Given the description of an element on the screen output the (x, y) to click on. 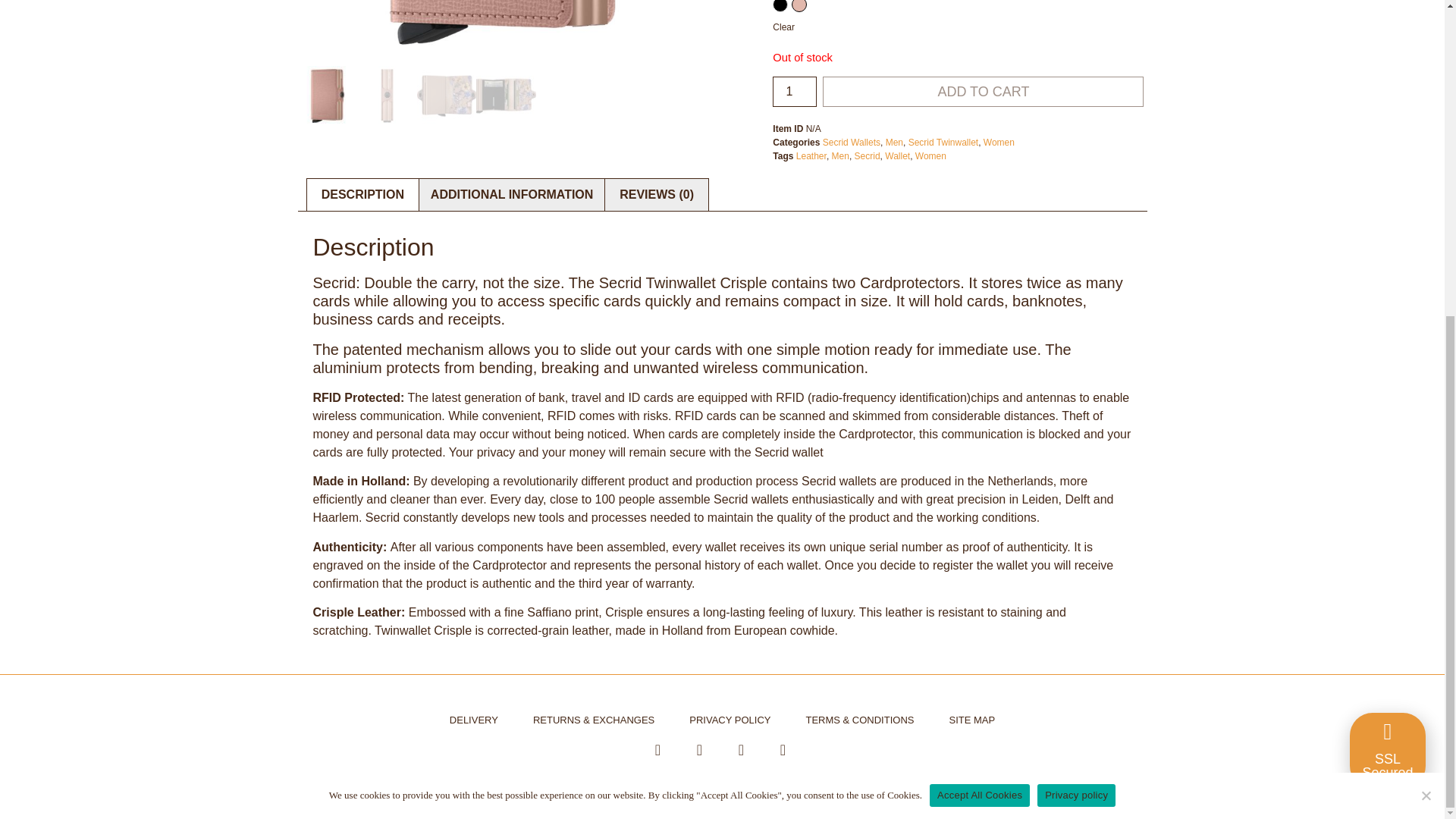
Secrid Twinwallet Crisple Rose Floral 4 (148, 33)
Secrid Twinwallet Crisple Rose Floral 4 (505, 96)
Secrid Twinwallet Crisple Rose Floral 2 (386, 96)
Secrid Twinwallet Crisple Rose Floral 1 (505, 33)
1 (794, 91)
Secrid Twinwallet Crisple Rose Floral 1 (326, 96)
Secrid Twinwallet Crisple Rose Floral 3 (446, 96)
